Given the description of an element on the screen output the (x, y) to click on. 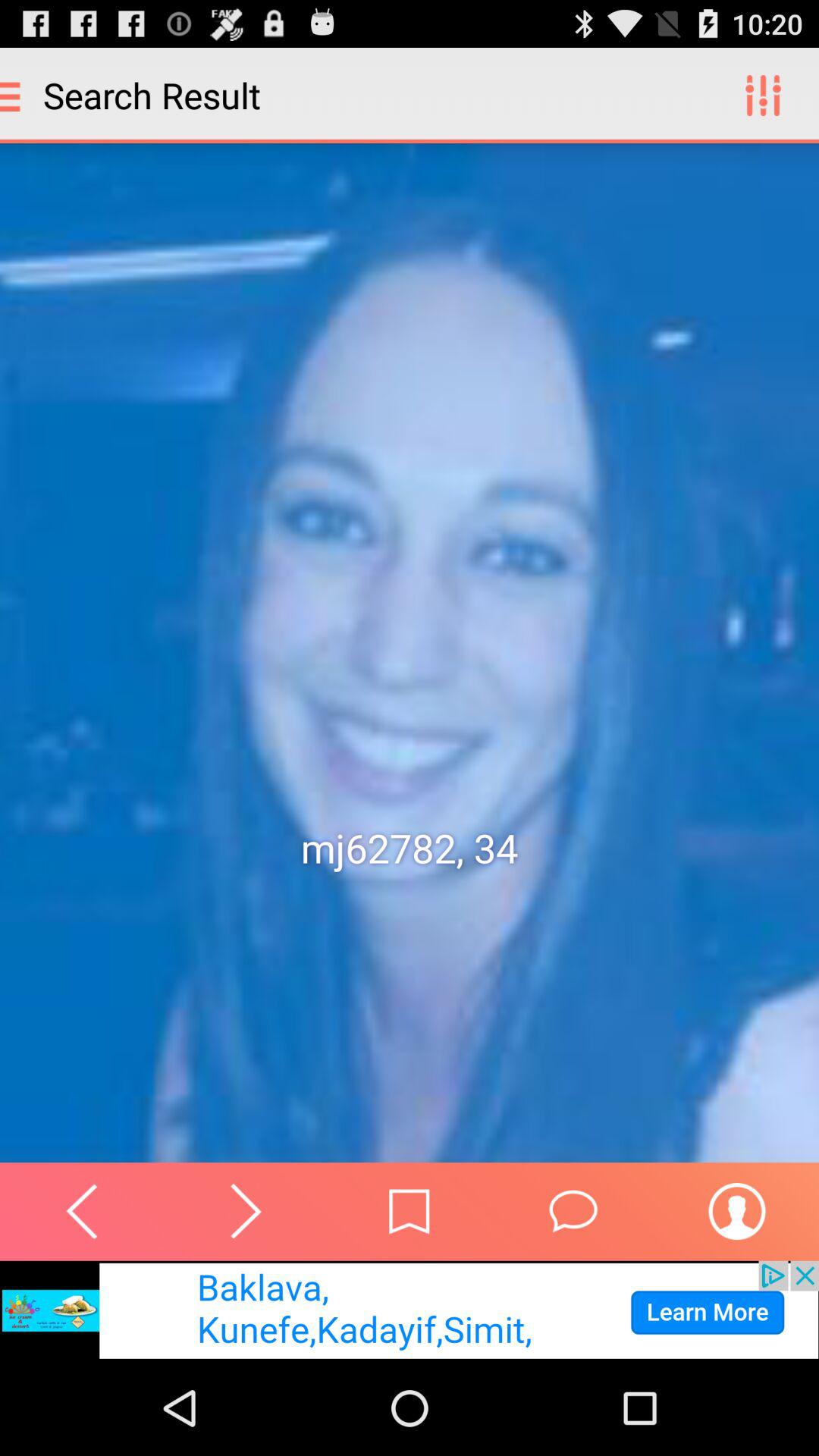
open profile (737, 1211)
